Given the description of an element on the screen output the (x, y) to click on. 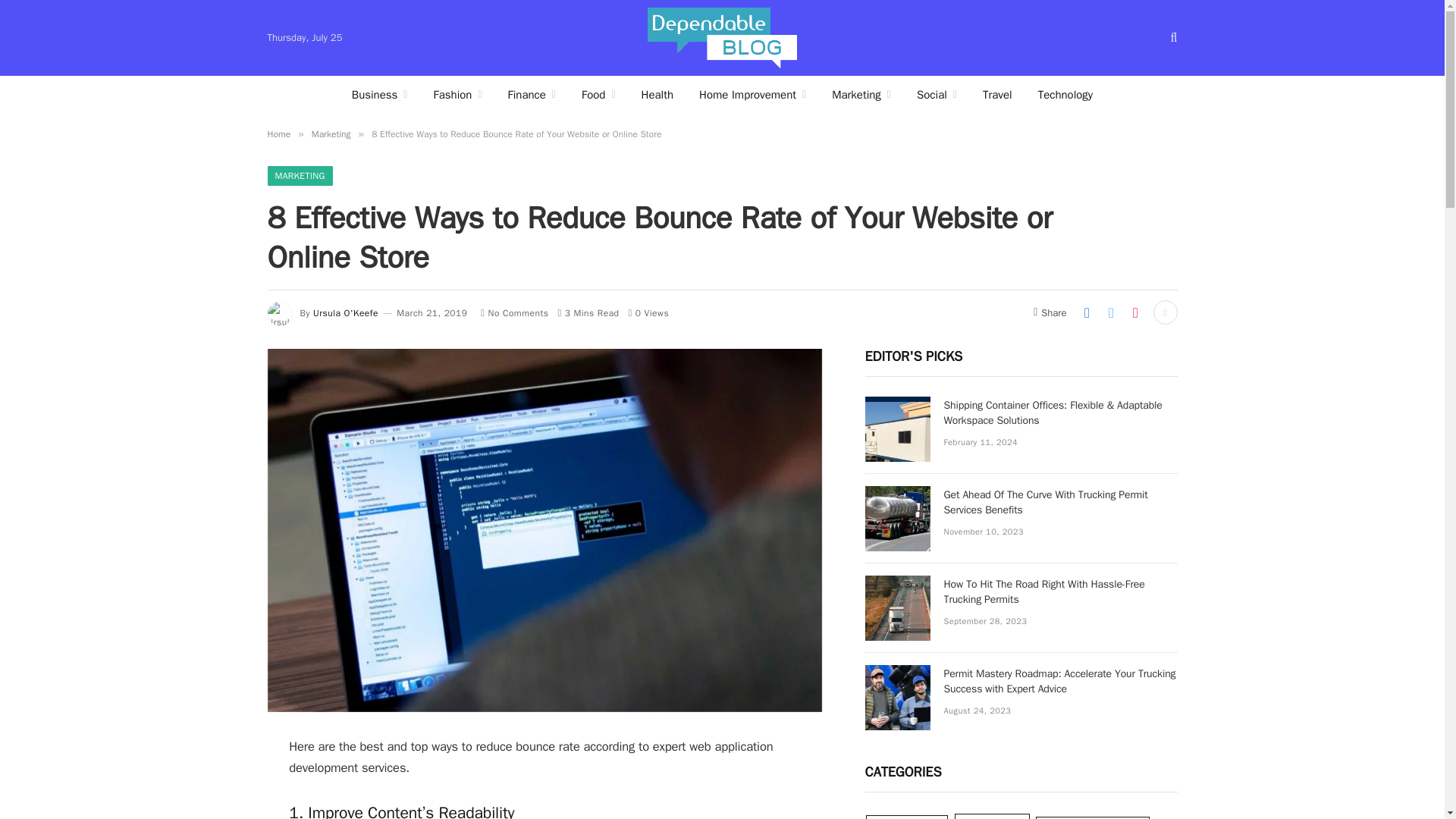
Technology (1065, 94)
Health (657, 94)
Travel (997, 94)
Dependable Blog (721, 38)
Share on Facebook (1086, 312)
Share on Pinterest (1135, 312)
Food (598, 94)
Show More Social Sharing (1164, 312)
Ursula O'Keefe (345, 313)
Social (936, 94)
MARKETING (298, 175)
Marketing (330, 133)
Business (379, 94)
0 Article Views (648, 313)
Finance (532, 94)
